Given the description of an element on the screen output the (x, y) to click on. 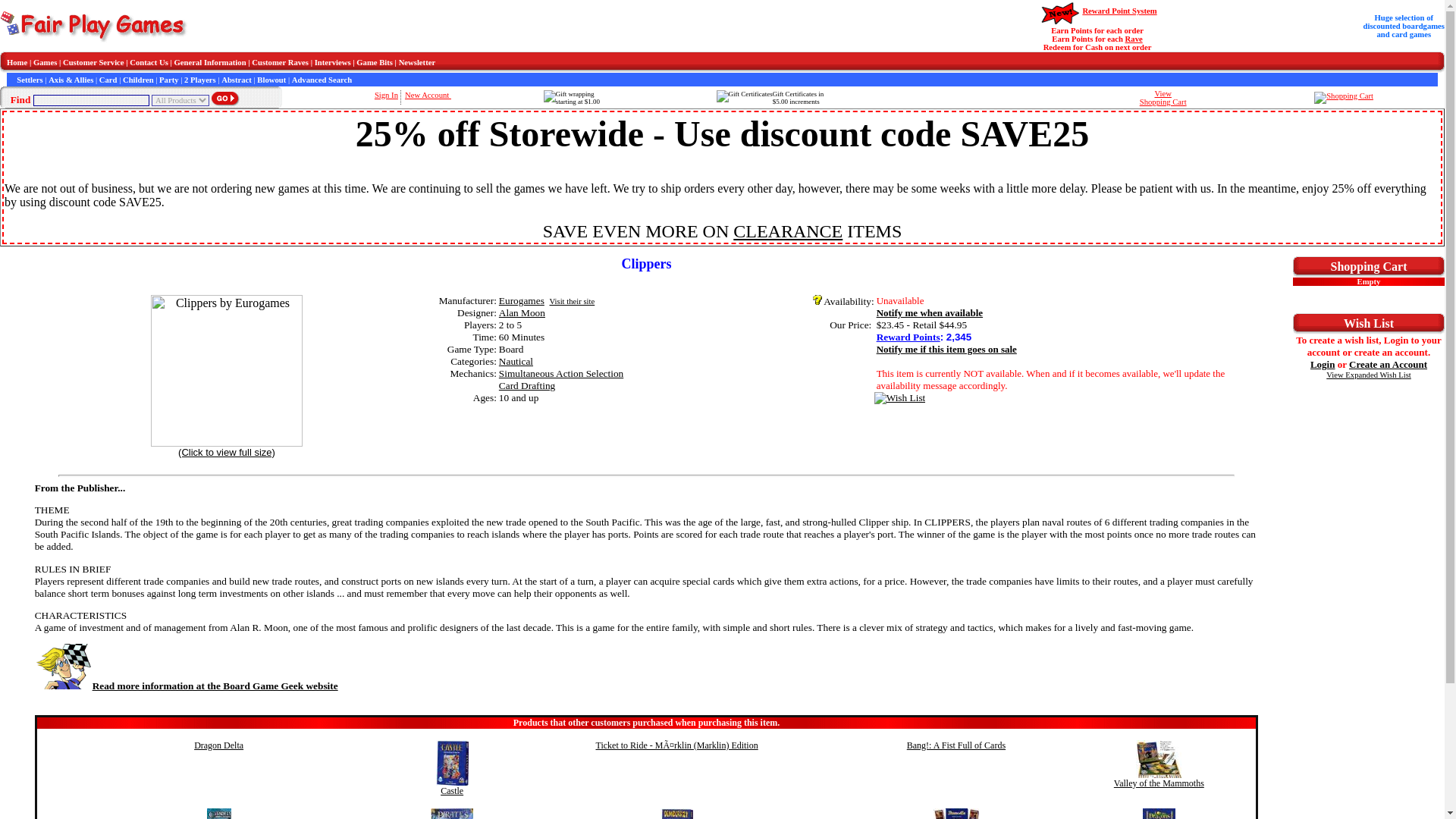
New Account  (427, 94)
Visit their site (571, 301)
Games (44, 61)
Nautical (515, 360)
Interviews (332, 61)
Eurogames (521, 300)
Blowout (271, 80)
Advanced Search (322, 80)
General Information (210, 61)
Card (108, 80)
Home (17, 61)
Children (138, 80)
Newsletter (416, 61)
Customer Raves (279, 61)
Abstract (236, 80)
